Given the description of an element on the screen output the (x, y) to click on. 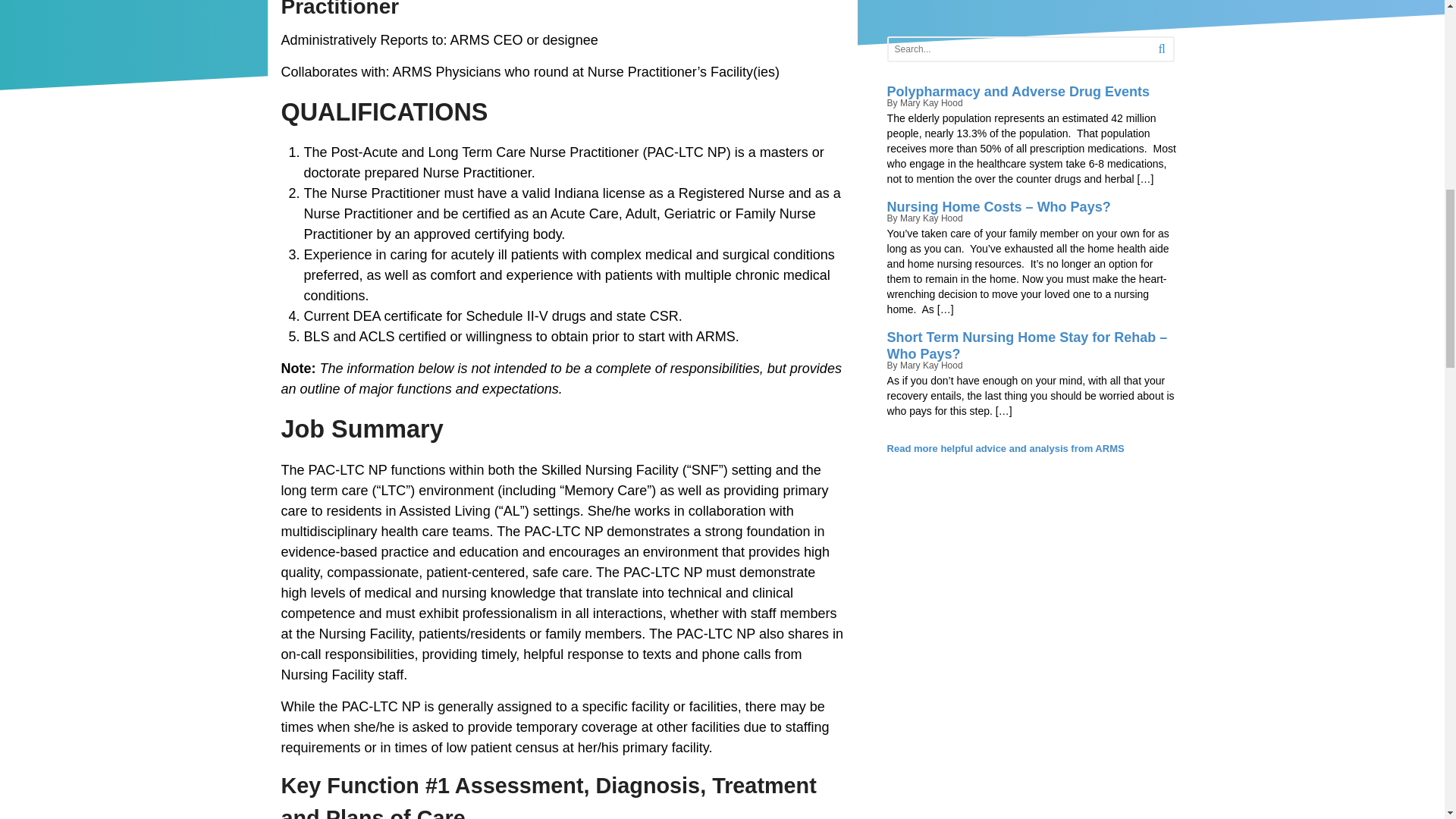
Read more helpful advice and analysis from ARMS (1005, 448)
Polypharmacy and Adverse Drug Events (1018, 92)
Search... (1015, 48)
